Given the description of an element on the screen output the (x, y) to click on. 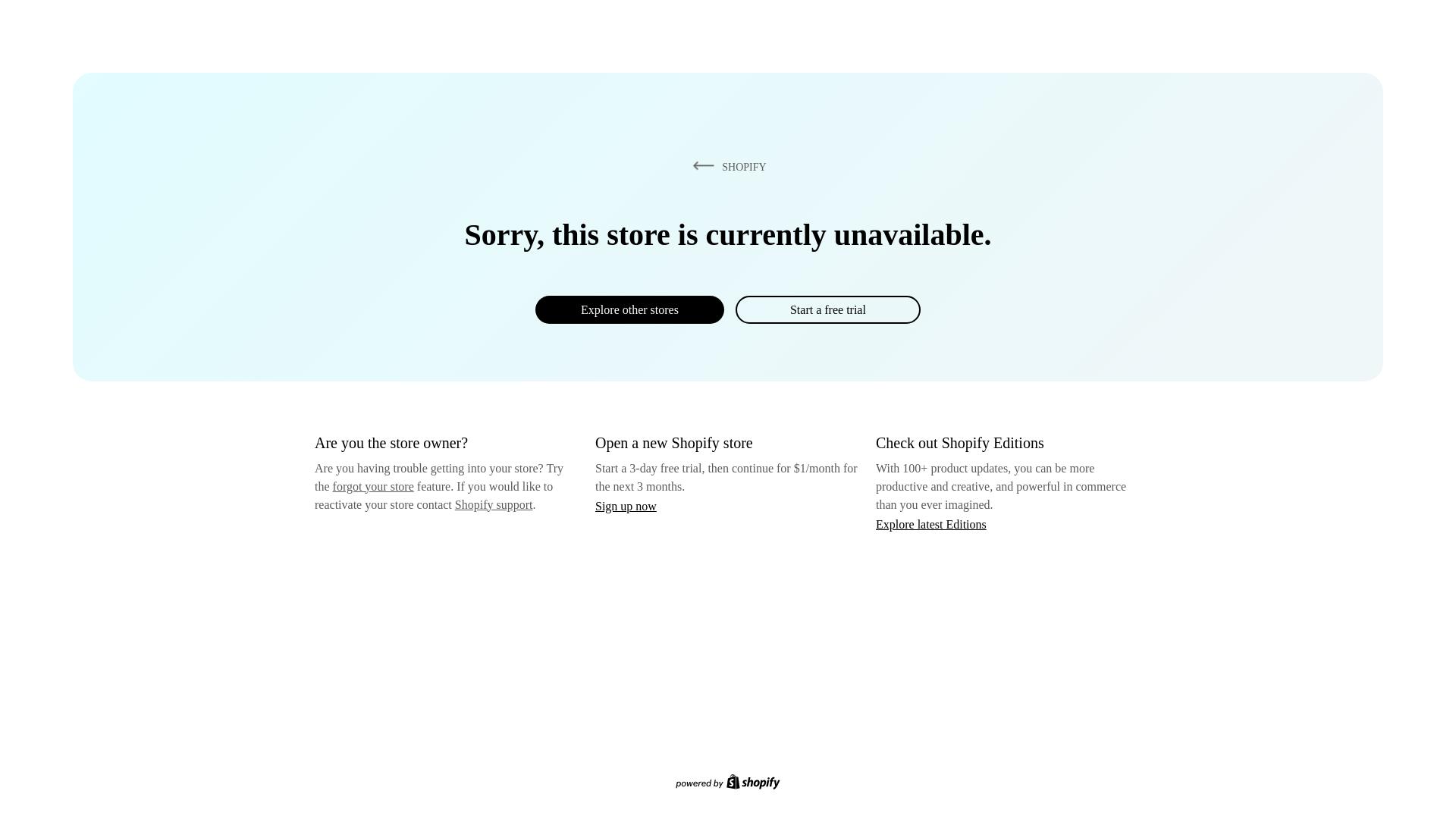
forgot your store (373, 486)
Explore latest Editions (931, 523)
Shopify support (493, 504)
Sign up now (625, 505)
Explore other stores (629, 309)
Start a free trial (827, 309)
SHOPIFY (726, 166)
